Given the description of an element on the screen output the (x, y) to click on. 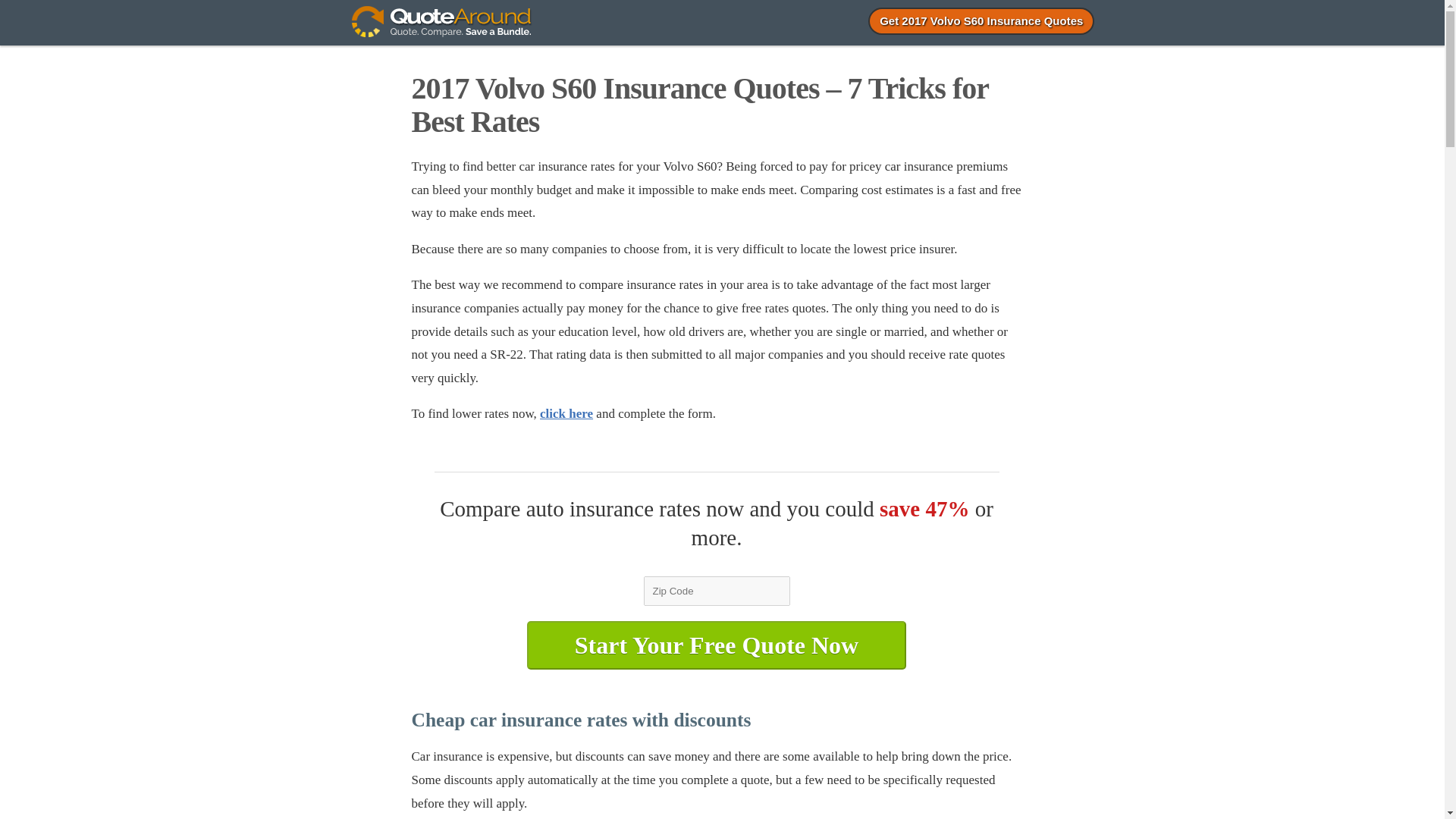
Start Your Free Quote Now (716, 644)
click here (566, 413)
Zip Code must be filled out! (716, 591)
Tap to get your quotes! (716, 645)
Get 2017 Volvo S60 Insurance Quotes (980, 21)
